Given the description of an element on the screen output the (x, y) to click on. 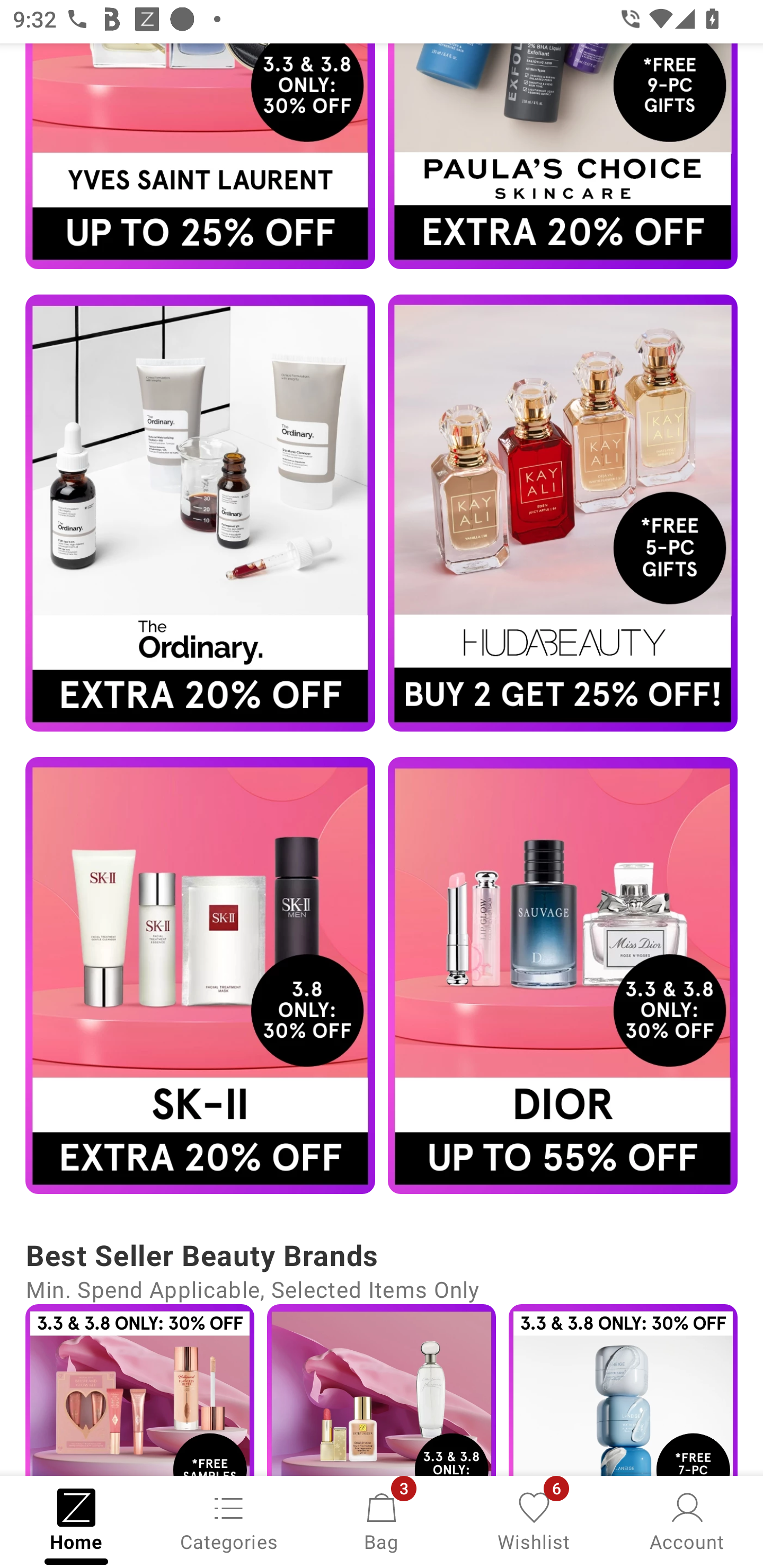
Campaign banner (200, 156)
Campaign banner (562, 156)
Campaign banner (200, 513)
Campaign banner (562, 513)
Campaign banner (200, 975)
Campaign banner (562, 975)
Campaign banner (139, 1389)
Campaign banner (381, 1389)
Campaign banner (622, 1389)
Categories (228, 1519)
Bag, 3 new notifications Bag (381, 1519)
Wishlist, 6 new notifications Wishlist (533, 1519)
Account (686, 1519)
